Given the description of an element on the screen output the (x, y) to click on. 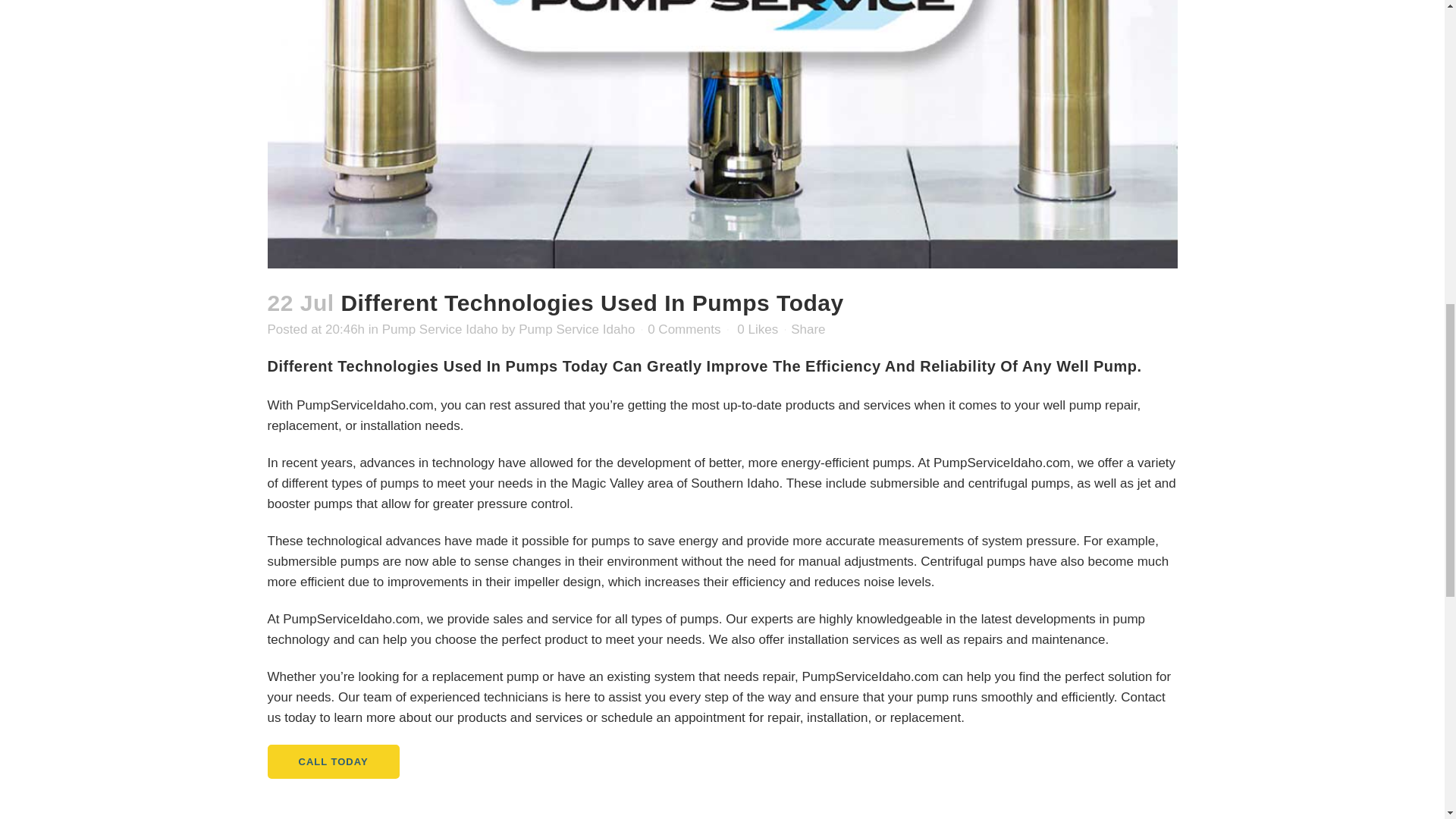
Share (807, 329)
Like this (756, 329)
Pump Service Idaho (576, 329)
0 Comments (683, 329)
Pump Service Idaho (439, 329)
0 Likes (756, 329)
CALL TODAY (332, 761)
